Given the description of an element on the screen output the (x, y) to click on. 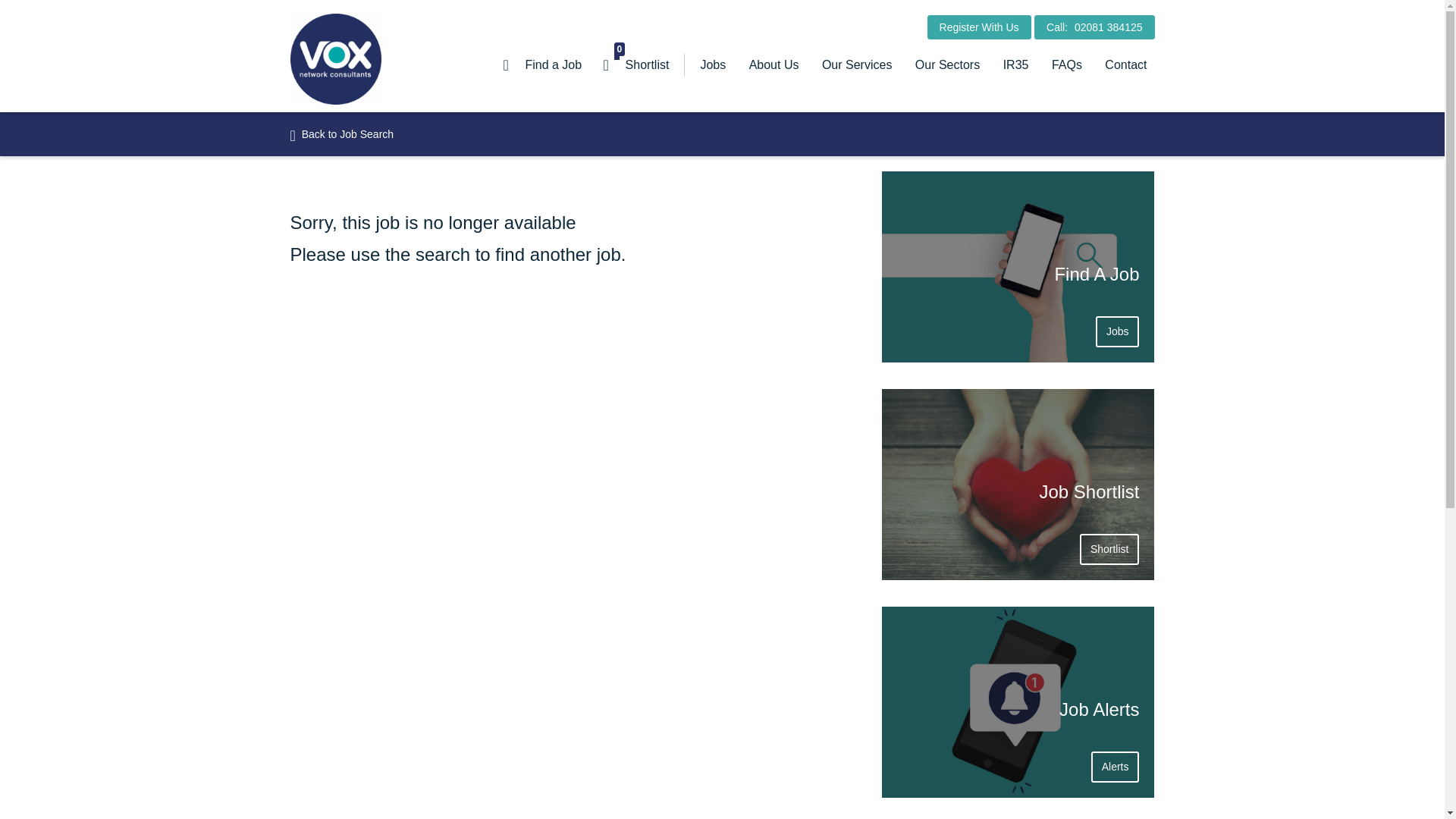
Our Sectors (947, 65)
About Us (774, 65)
Jobs (712, 65)
Call: 02081 384125 (1093, 27)
IR35 (637, 65)
Register With Us (1015, 65)
Find a Job (978, 27)
Our Services (543, 65)
